Given the description of an element on the screen output the (x, y) to click on. 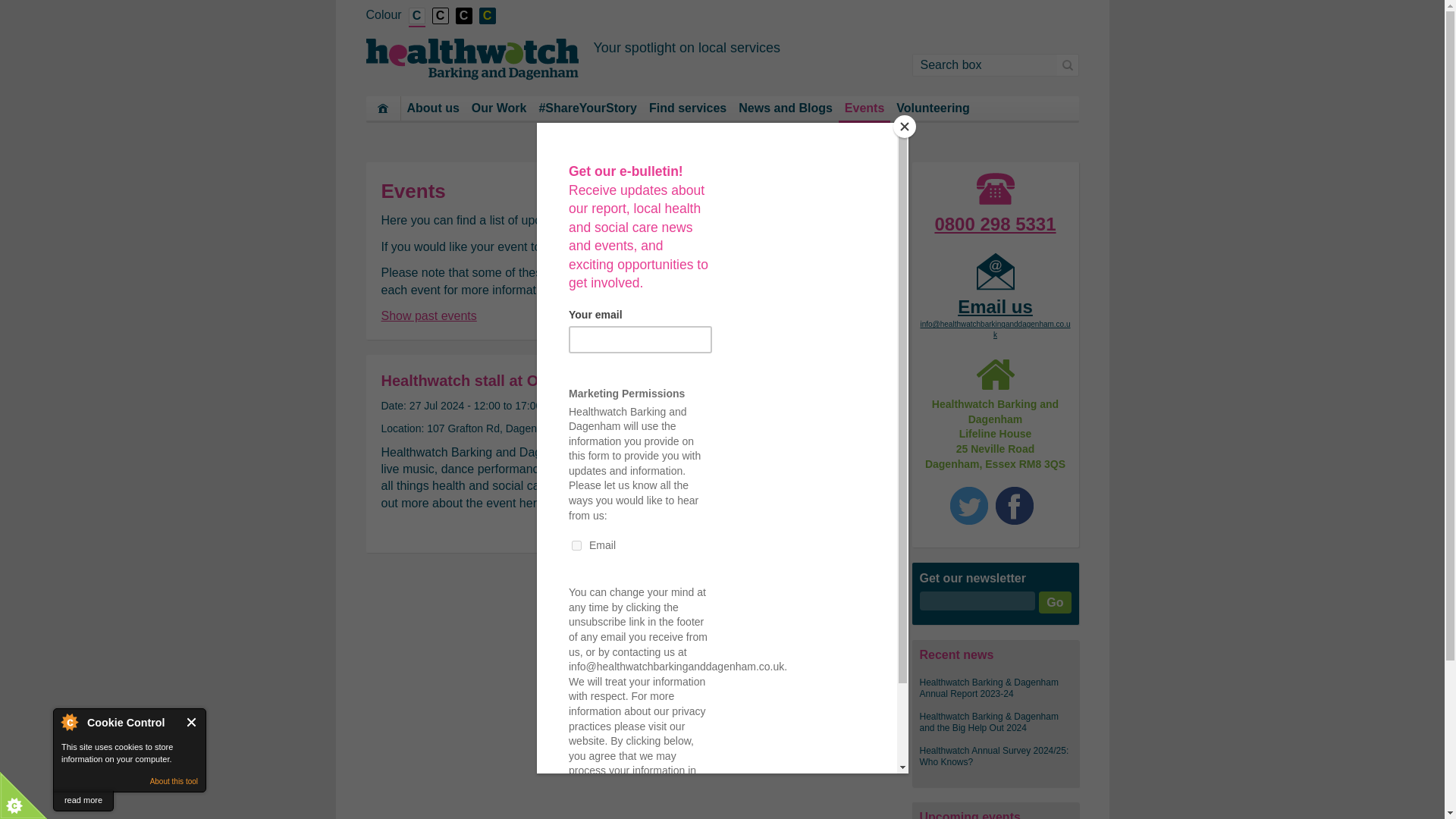
About Cookie Control (68, 721)
Volunteering (932, 108)
About this tool (173, 781)
Find services (687, 108)
read more (82, 801)
C (487, 16)
Enter the terms you wish to search for. (984, 65)
Events (863, 109)
News and Blogs (785, 108)
Go (1054, 602)
Close (191, 722)
Home (382, 108)
C (440, 16)
C (463, 16)
Our Work (498, 108)
